Given the description of an element on the screen output the (x, y) to click on. 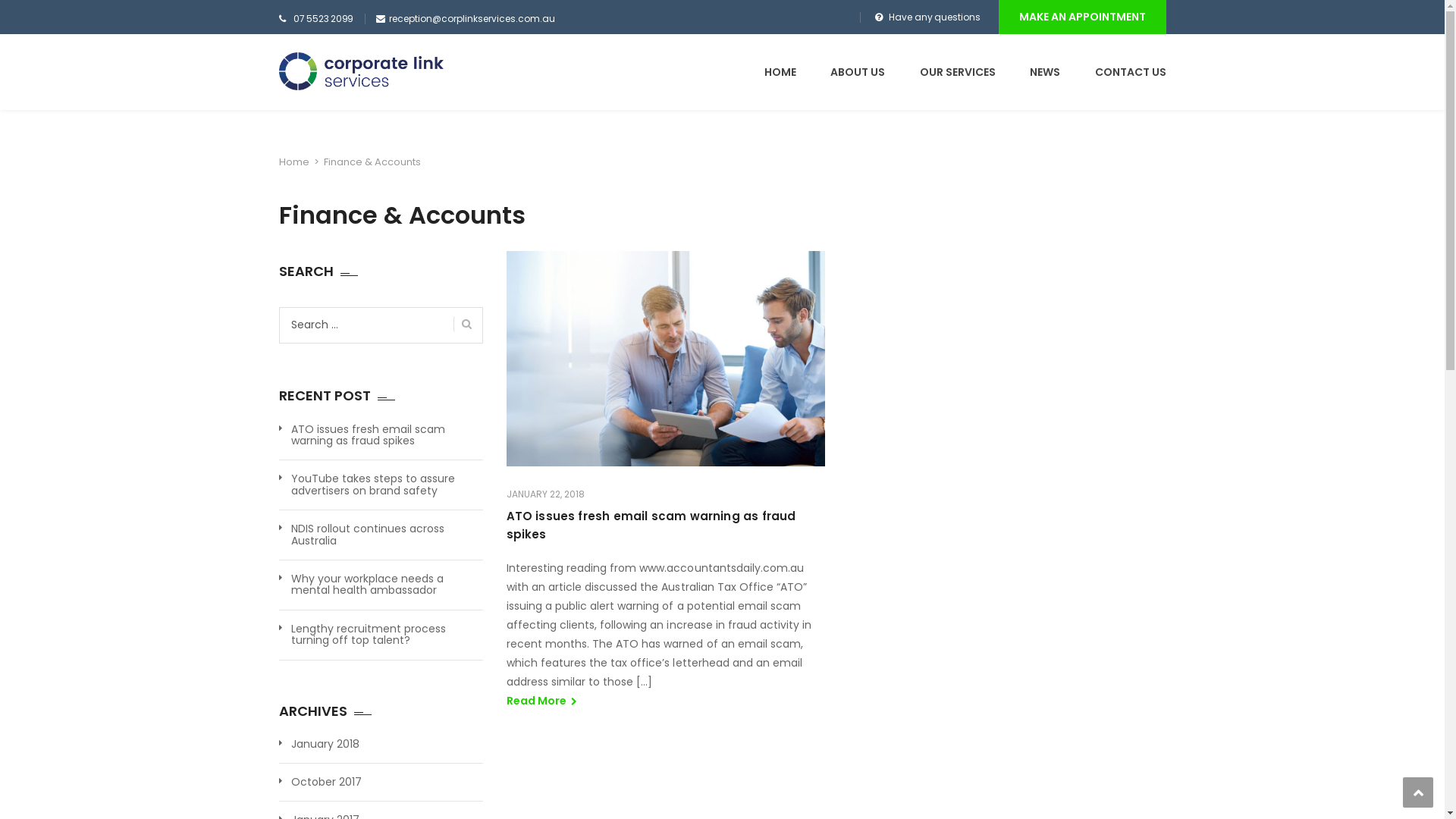
January 2018 Element type: text (325, 743)
NDIS rollout continues across Australia Element type: text (387, 534)
ATO issues fresh email scam warning as fraud spikes Element type: text (387, 435)
MAKE AN APPOINTMENT Element type: text (1081, 17)
Why your workplace needs a mental health ambassador Element type: text (387, 584)
NEWS Element type: text (1044, 71)
Search Element type: text (462, 324)
October 2017 Element type: text (326, 781)
HOME Element type: text (780, 71)
Home Element type: text (294, 161)
ATO issues fresh email scam warning as fraud spikes Element type: text (651, 525)
OUR SERVICES Element type: text (956, 71)
YouTube takes steps to assure advertisers on brand safety Element type: text (387, 484)
Search Element type: text (1144, 126)
reception@corplinkservices.com.au Element type: text (471, 18)
Lengthy recruitment process turning off top talent? Element type: text (387, 634)
Read More Element type: text (541, 700)
ABOUT US Element type: text (857, 71)
CONTACT US Element type: text (1130, 71)
Corporate Link Services Element type: hover (361, 71)
